Given the description of an element on the screen output the (x, y) to click on. 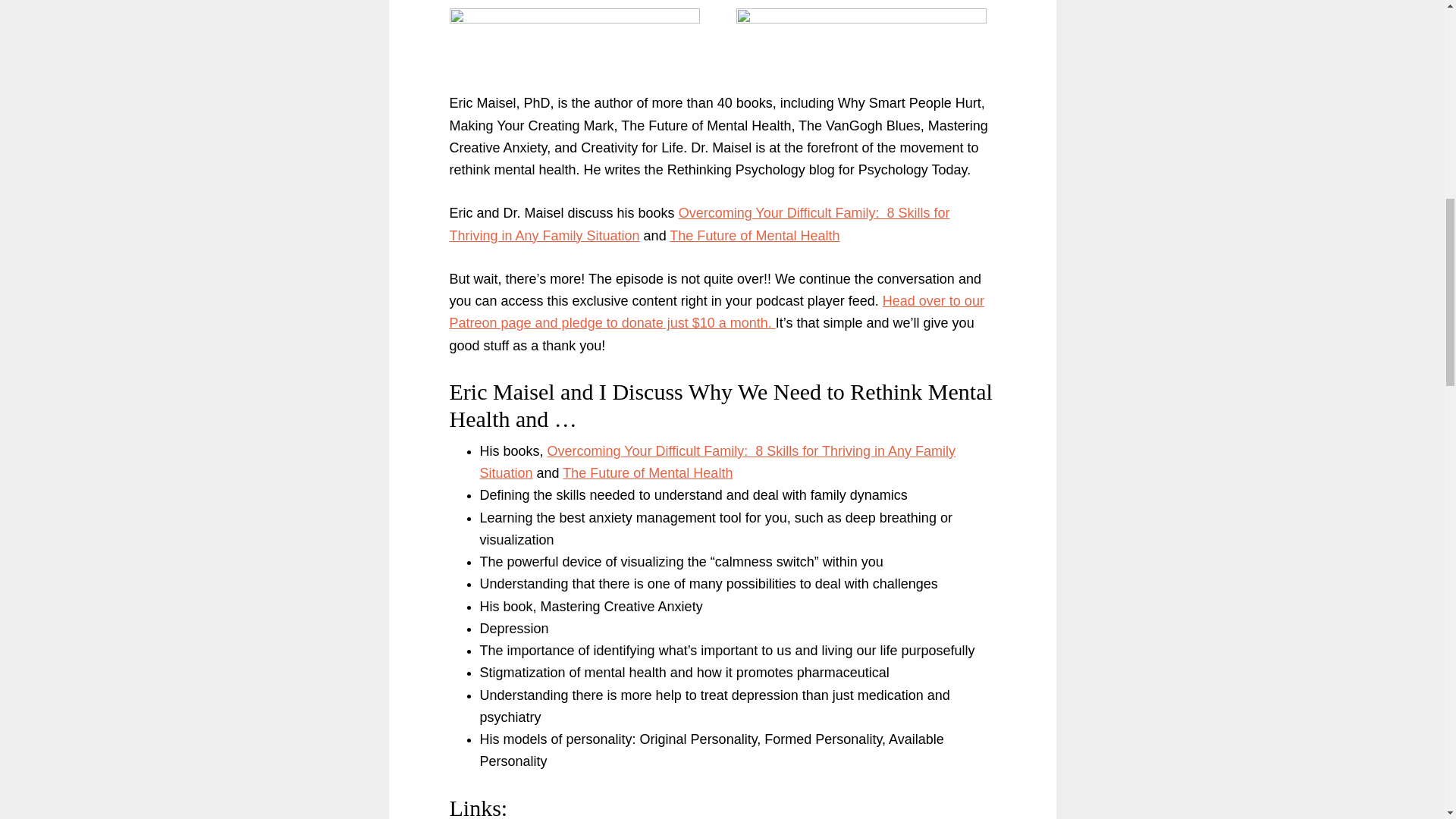
The Future of Mental Health (754, 235)
